Given the description of an element on the screen output the (x, y) to click on. 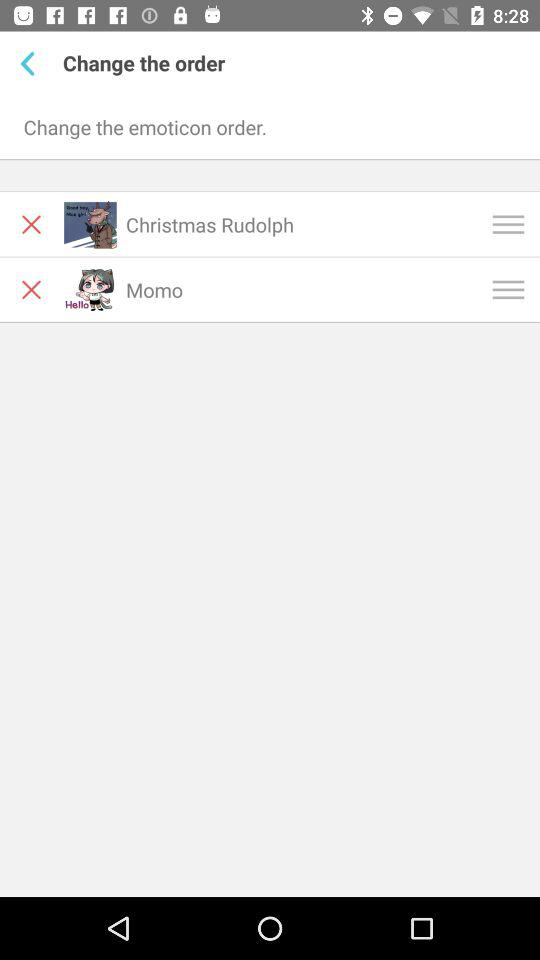
select item above the change the emoticon item (31, 63)
